Given the description of an element on the screen output the (x, y) to click on. 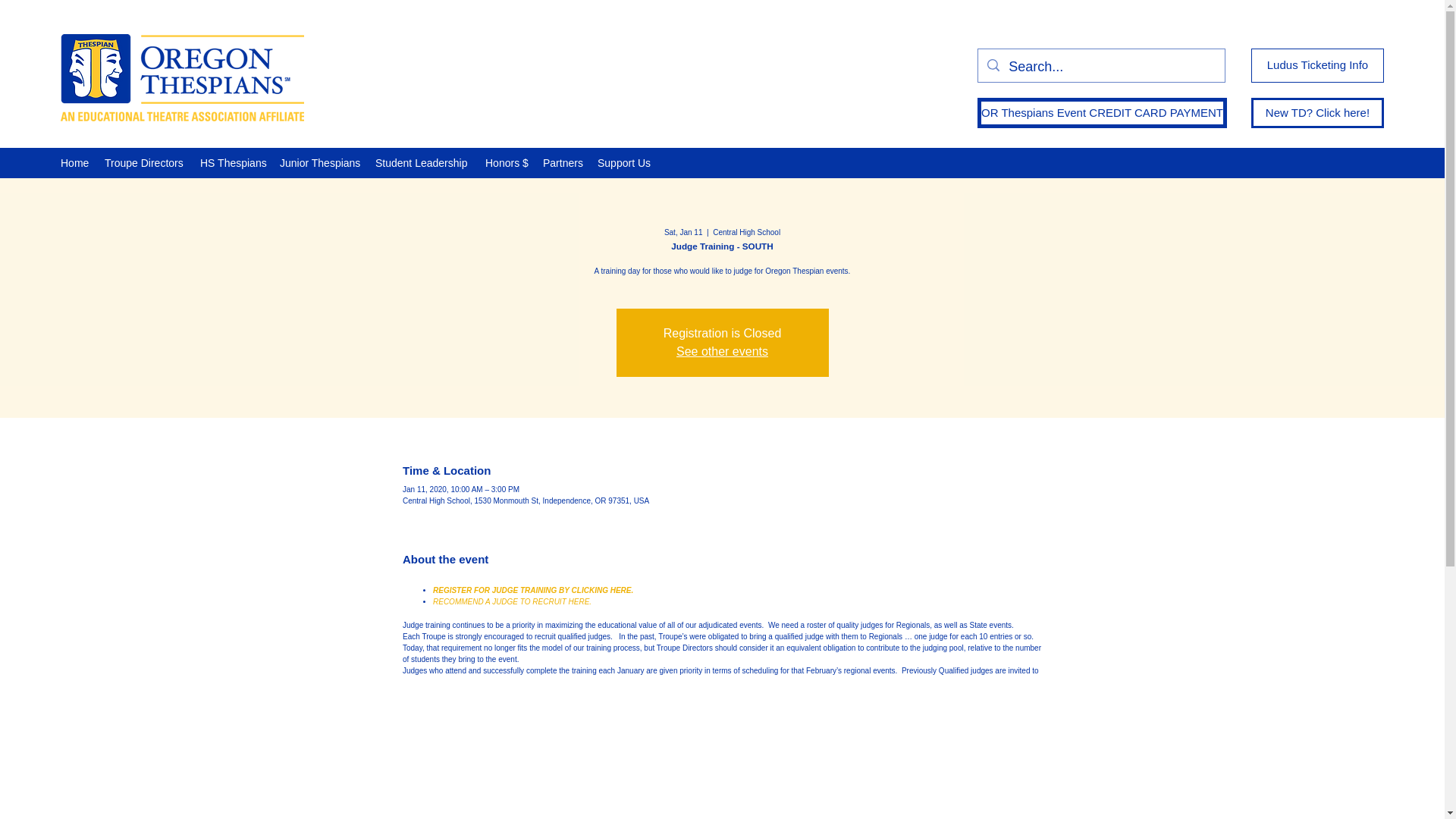
Partners (562, 162)
Home (74, 162)
HS Thespians (232, 162)
Junior Thespians (320, 162)
RECOMMEND A JUDGE TO RECRUIT HERE. (511, 601)
Ludus Ticketing Info (1317, 65)
See other events (722, 350)
REGISTER FOR JUDGE TRAINING BY CLICKING HERE. (532, 590)
Student Leadership (422, 162)
Troupe Directors (144, 162)
